Given the description of an element on the screen output the (x, y) to click on. 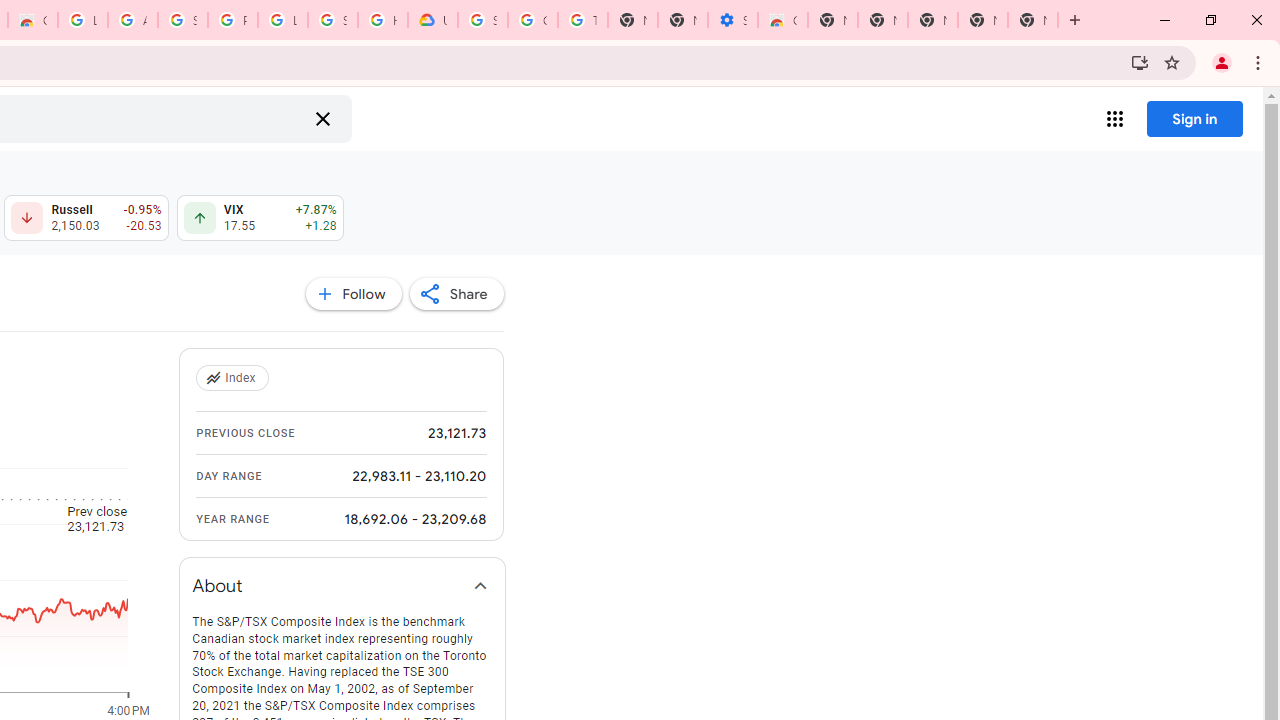
Install Google Finance (1139, 62)
Share (456, 293)
VIX 17.55 Up by 7.87% +1.28 (260, 218)
